Given the description of an element on the screen output the (x, y) to click on. 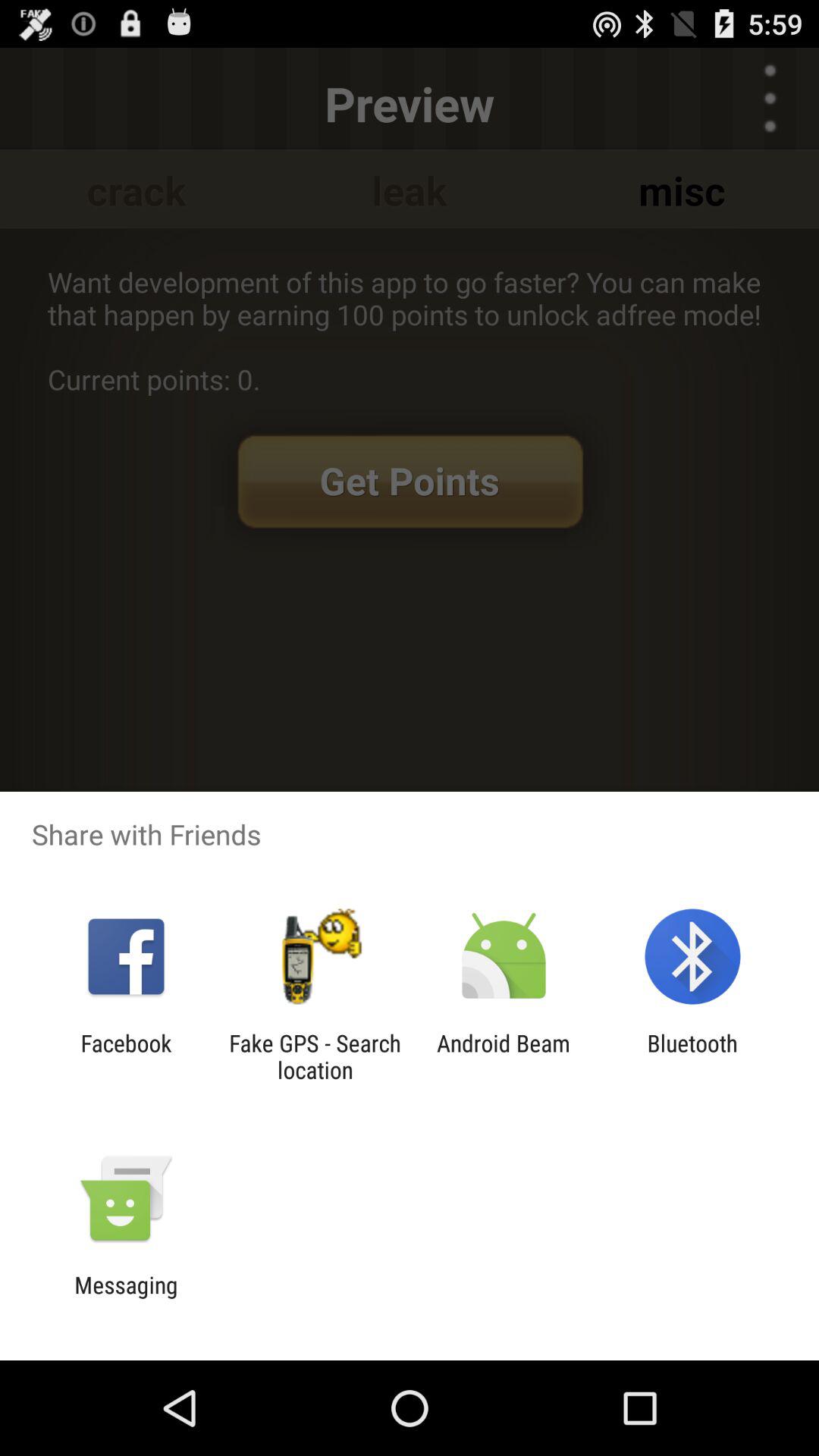
turn on the icon to the right of the facebook app (314, 1056)
